Given the description of an element on the screen output the (x, y) to click on. 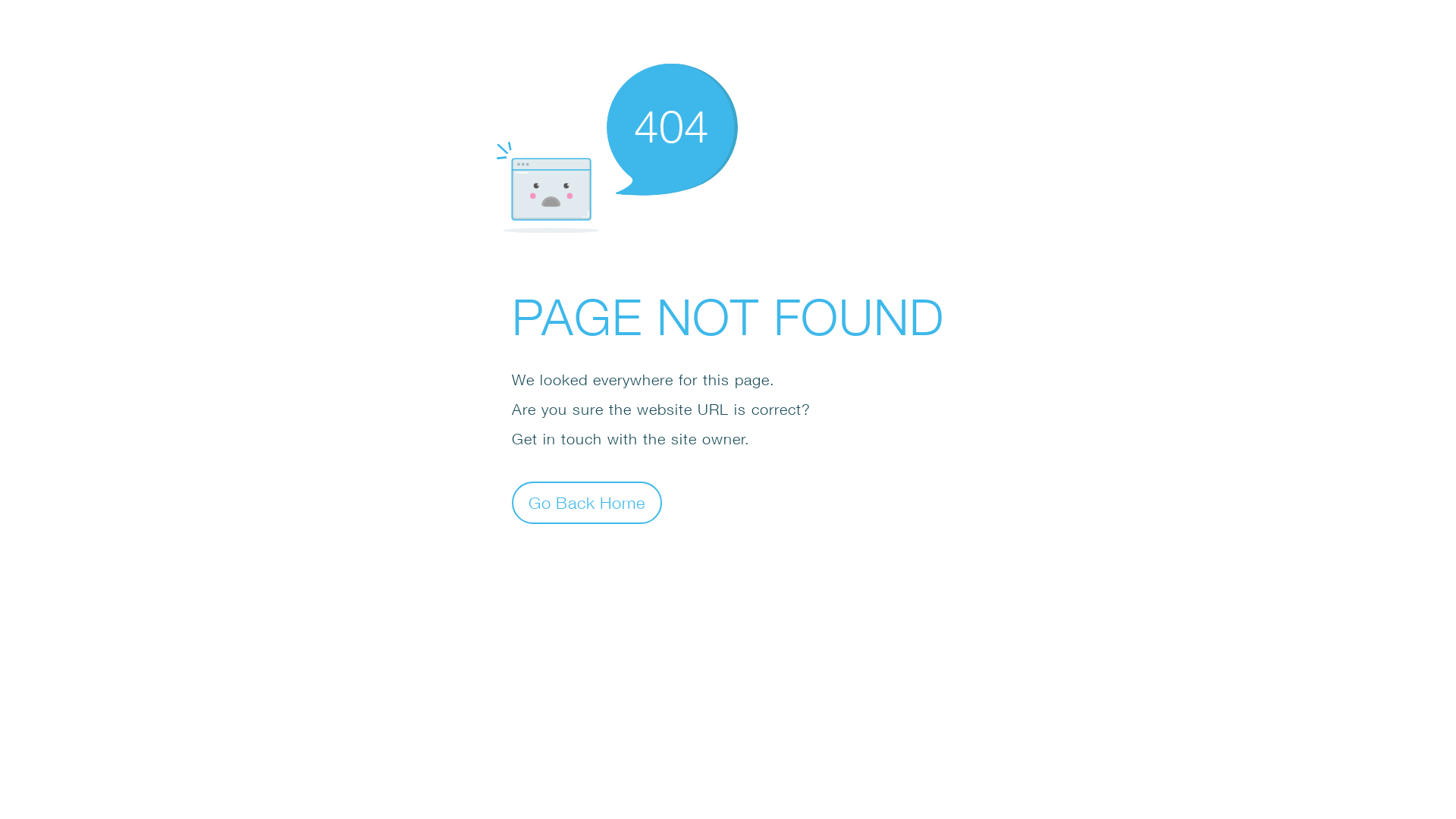
Go Back Home Element type: text (586, 502)
